Given the description of an element on the screen output the (x, y) to click on. 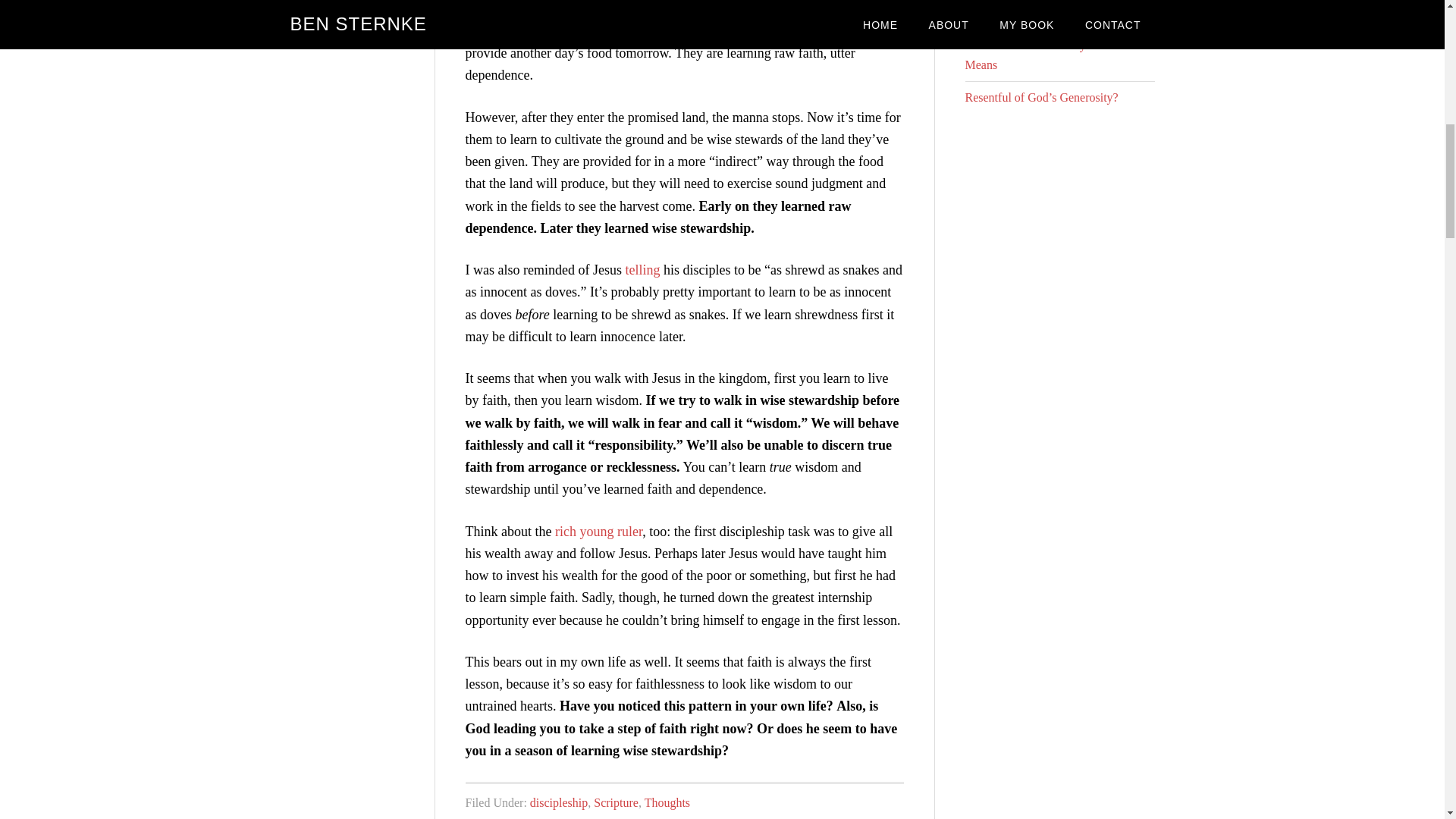
discipleship (558, 802)
Thoughts (667, 802)
rich young ruler (598, 530)
telling (641, 269)
Scripture (616, 802)
